Given the description of an element on the screen output the (x, y) to click on. 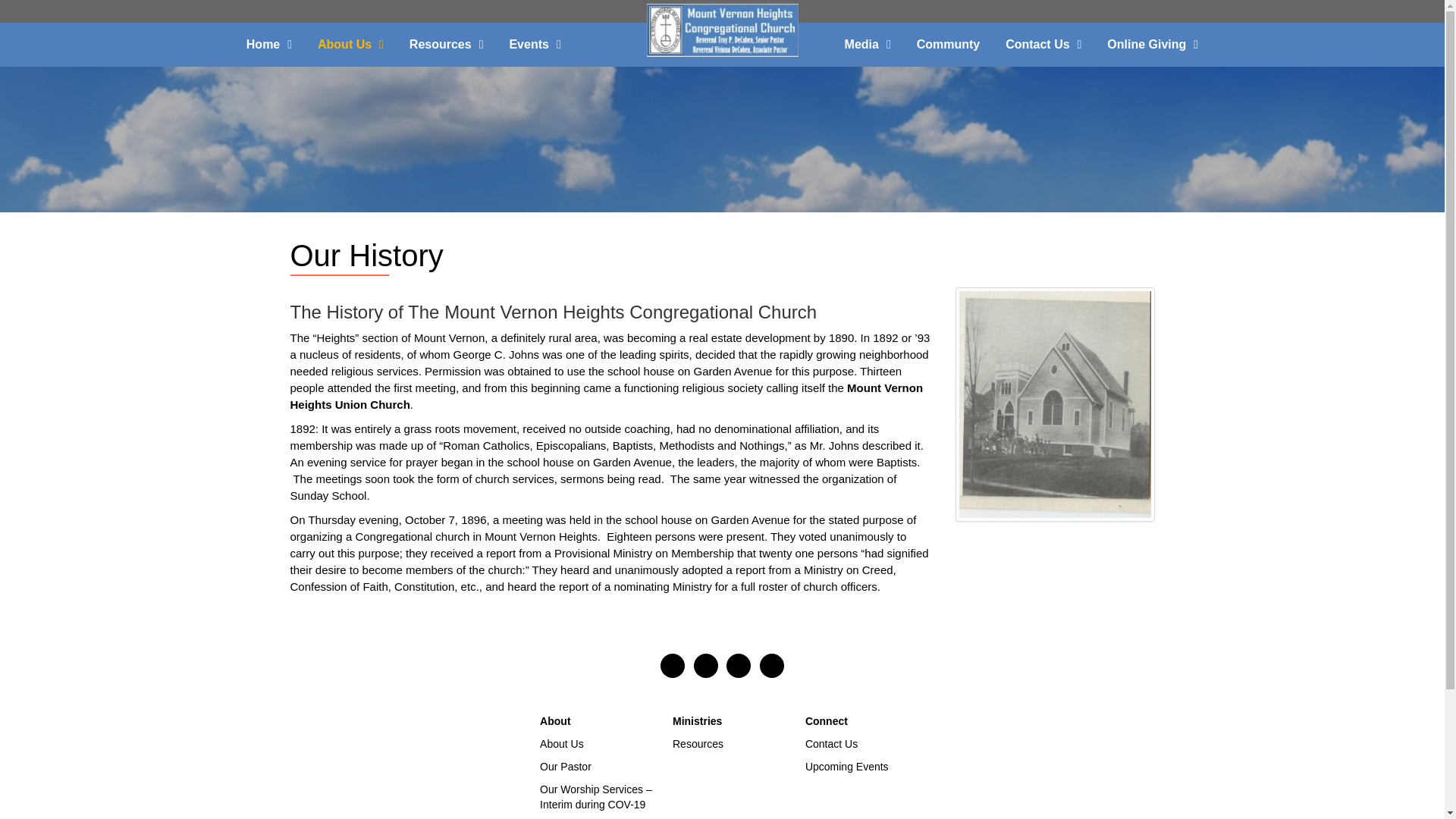
Home (268, 44)
Media (867, 44)
About Us (349, 44)
Communty (948, 44)
Events (534, 44)
Resources (446, 44)
